Given the description of an element on the screen output the (x, y) to click on. 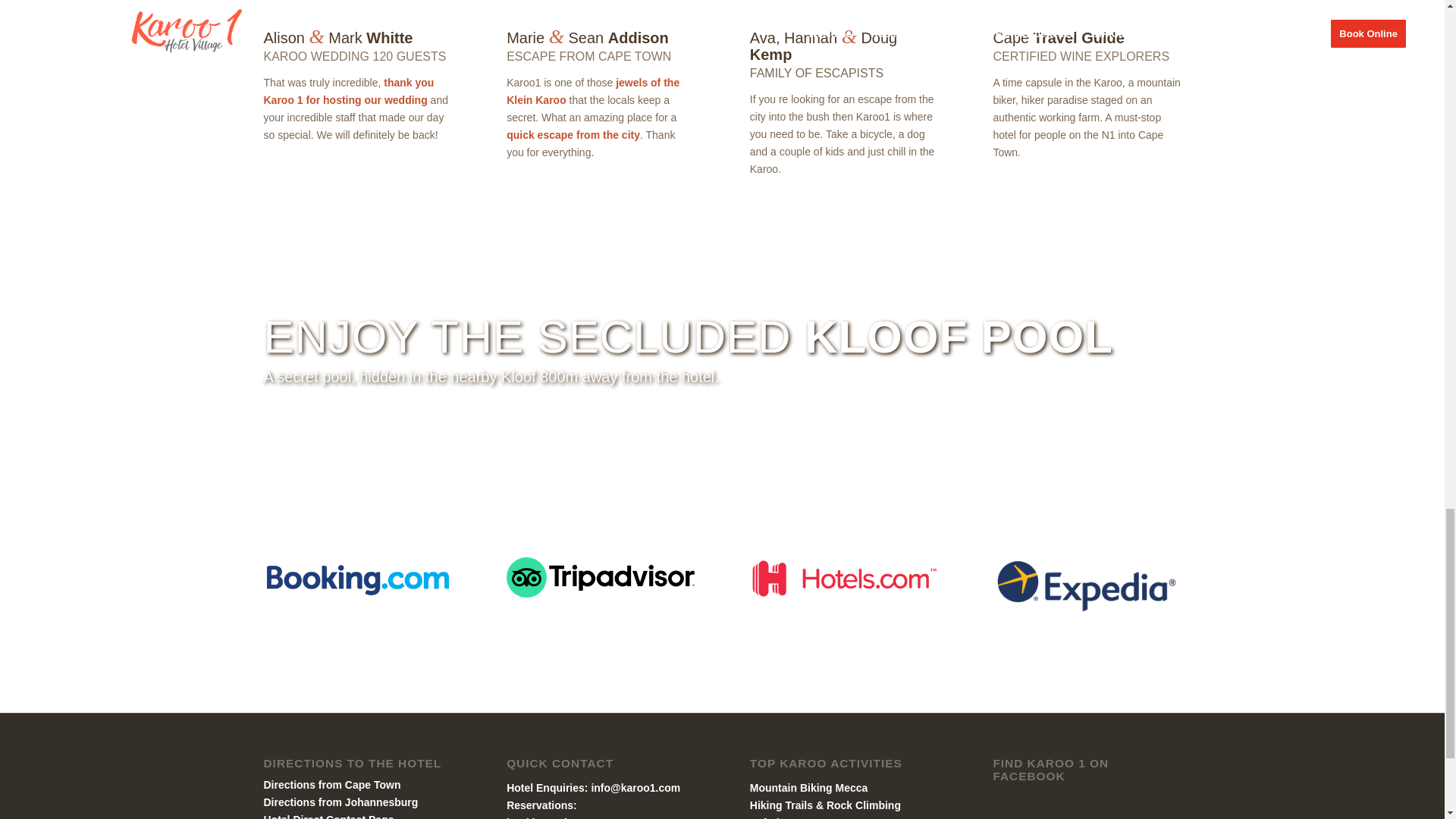
Safari (763, 817)
Mountain Biking Mecca (808, 787)
Directions from Cape Town (332, 784)
expedia (1086, 585)
Rock Climbing (864, 805)
tripadvisor (600, 577)
hotels (843, 578)
Directions from Johannesburg (341, 802)
Hotel Direct Contact Page (328, 816)
Hiking Trails (780, 805)
